Given the description of an element on the screen output the (x, y) to click on. 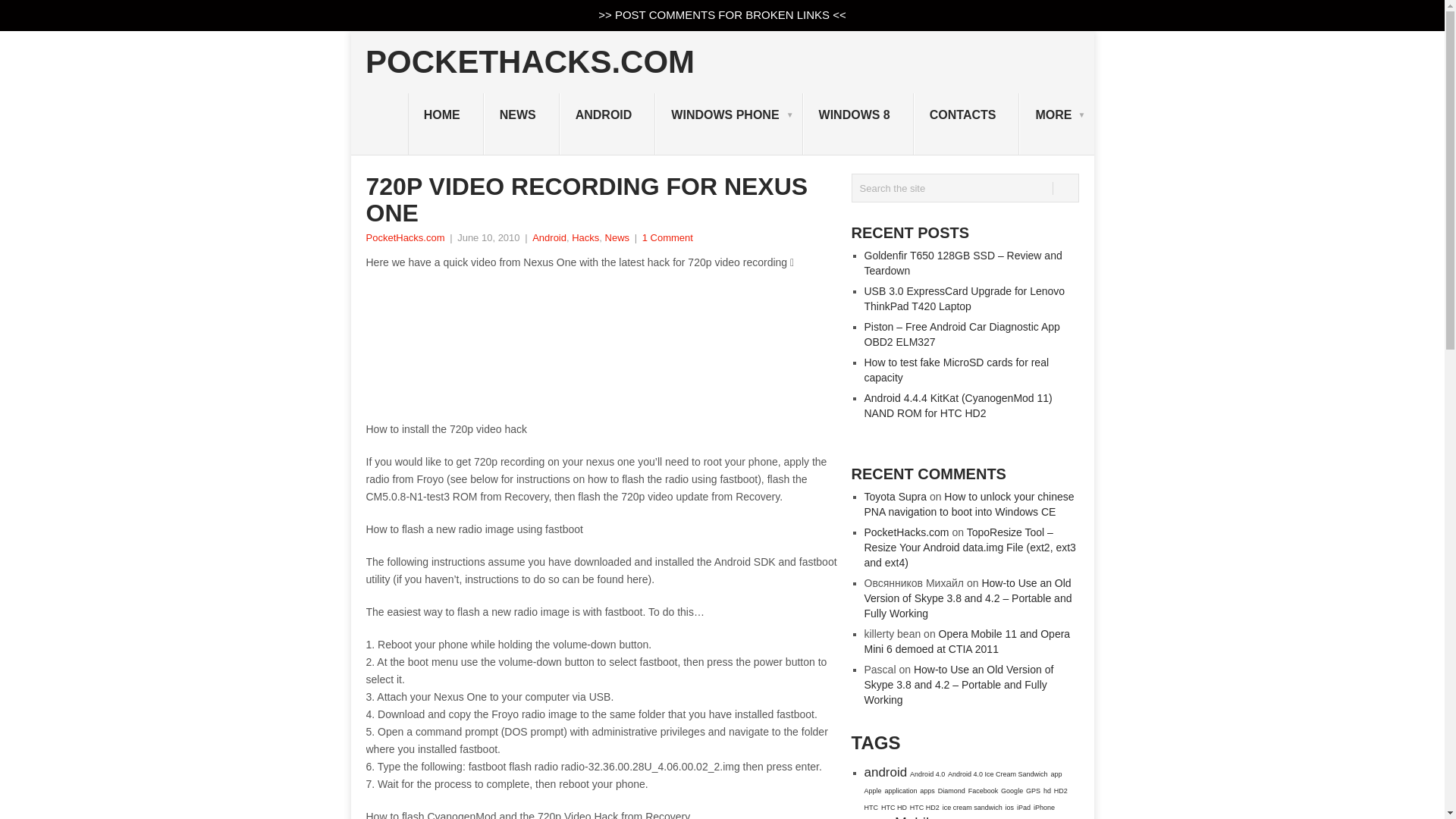
HOME (445, 124)
ANDROID (607, 124)
Posts by PocketHacks.com (404, 237)
Hacks (585, 237)
POCKETHACKS.COM (529, 61)
CONTACTS (967, 124)
NEWS (521, 124)
Search the site (964, 187)
News (617, 237)
Android (549, 237)
WINDOWS 8 (858, 124)
WINDOWS PHONE (728, 124)
PocketHacks.com (404, 237)
Search (1064, 187)
MORE (1056, 124)
